Given the description of an element on the screen output the (x, y) to click on. 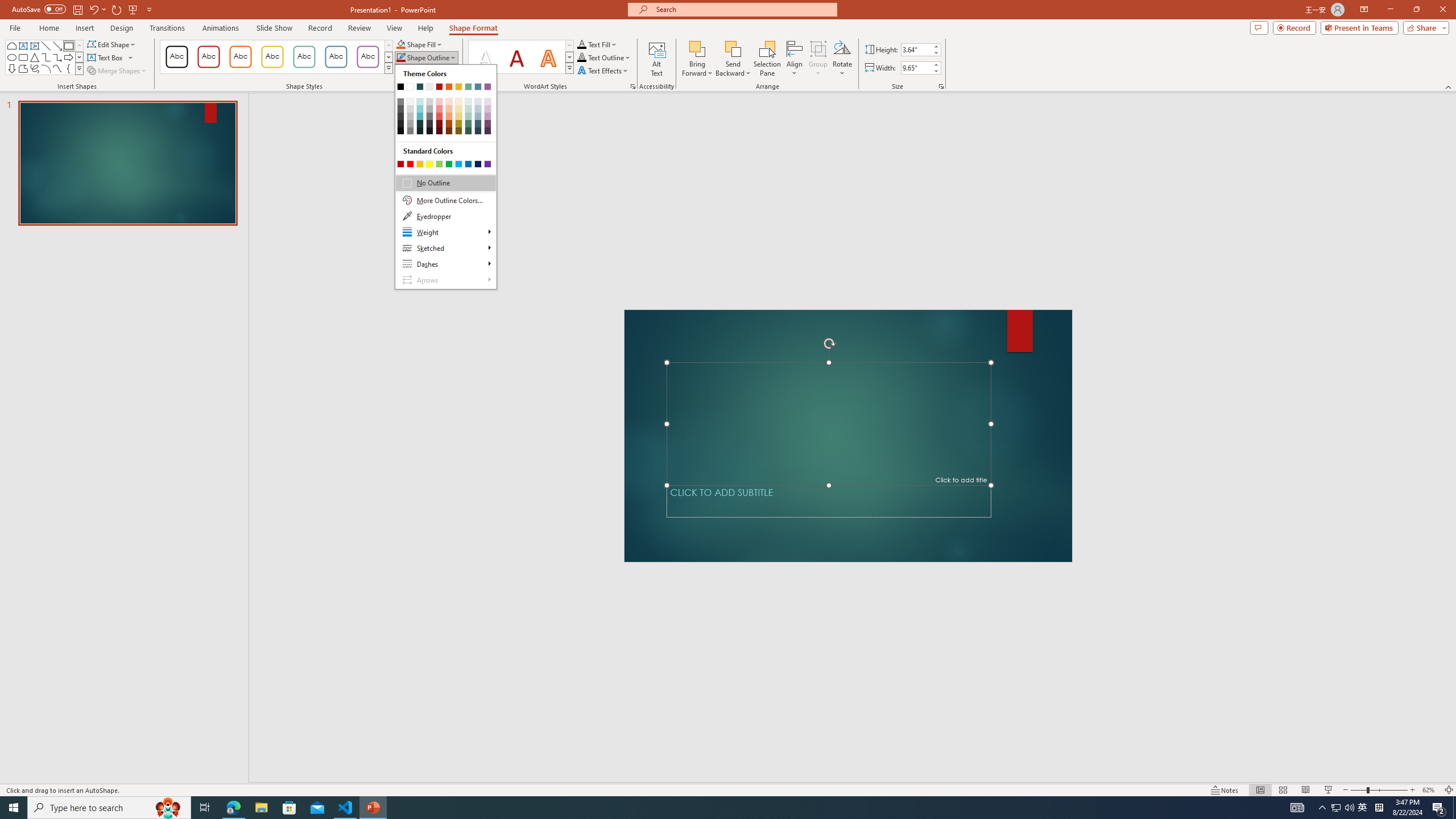
Shape Width (915, 67)
Format Text Effects... (632, 85)
Bring Forward (697, 58)
Zoom 62% (1430, 790)
